Given the description of an element on the screen output the (x, y) to click on. 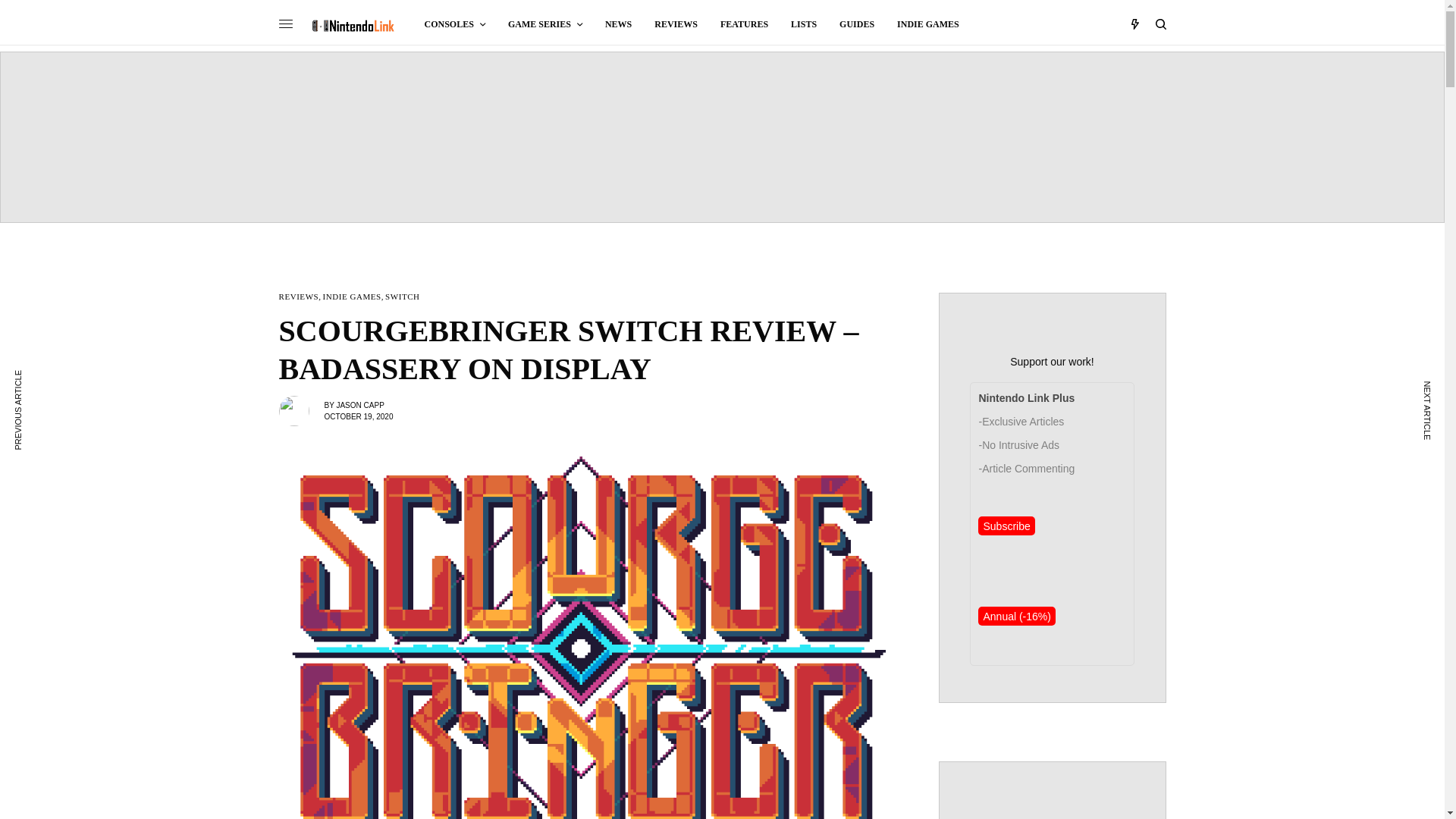
Nintendo Link (352, 25)
CONSOLES (454, 23)
